Given the description of an element on the screen output the (x, y) to click on. 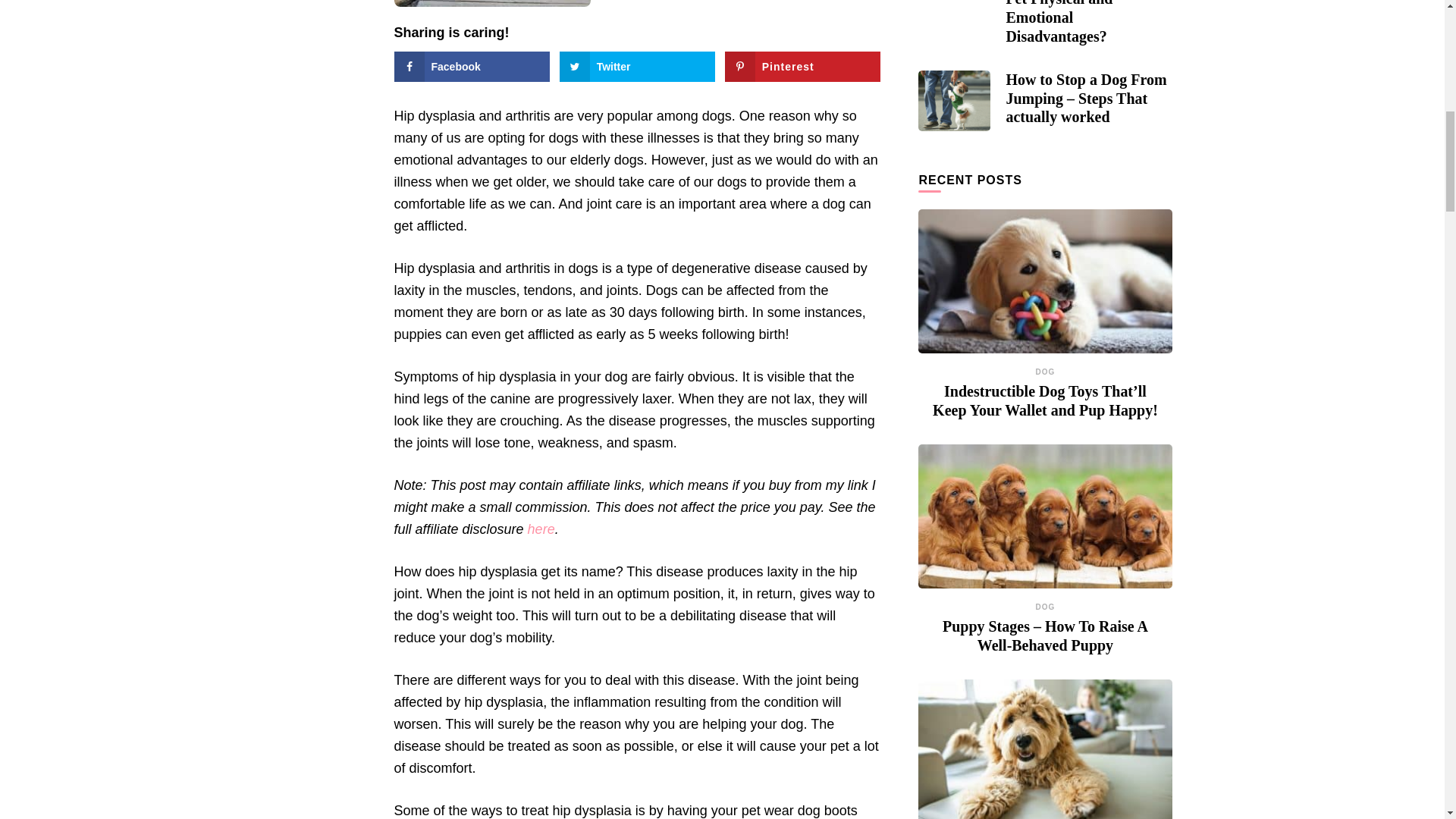
Share on Twitter (636, 66)
Twitter (636, 66)
here (540, 529)
Pinterest (802, 66)
Facebook (472, 66)
Save to Pinterest (802, 66)
Share on Facebook (472, 66)
